Given the description of an element on the screen output the (x, y) to click on. 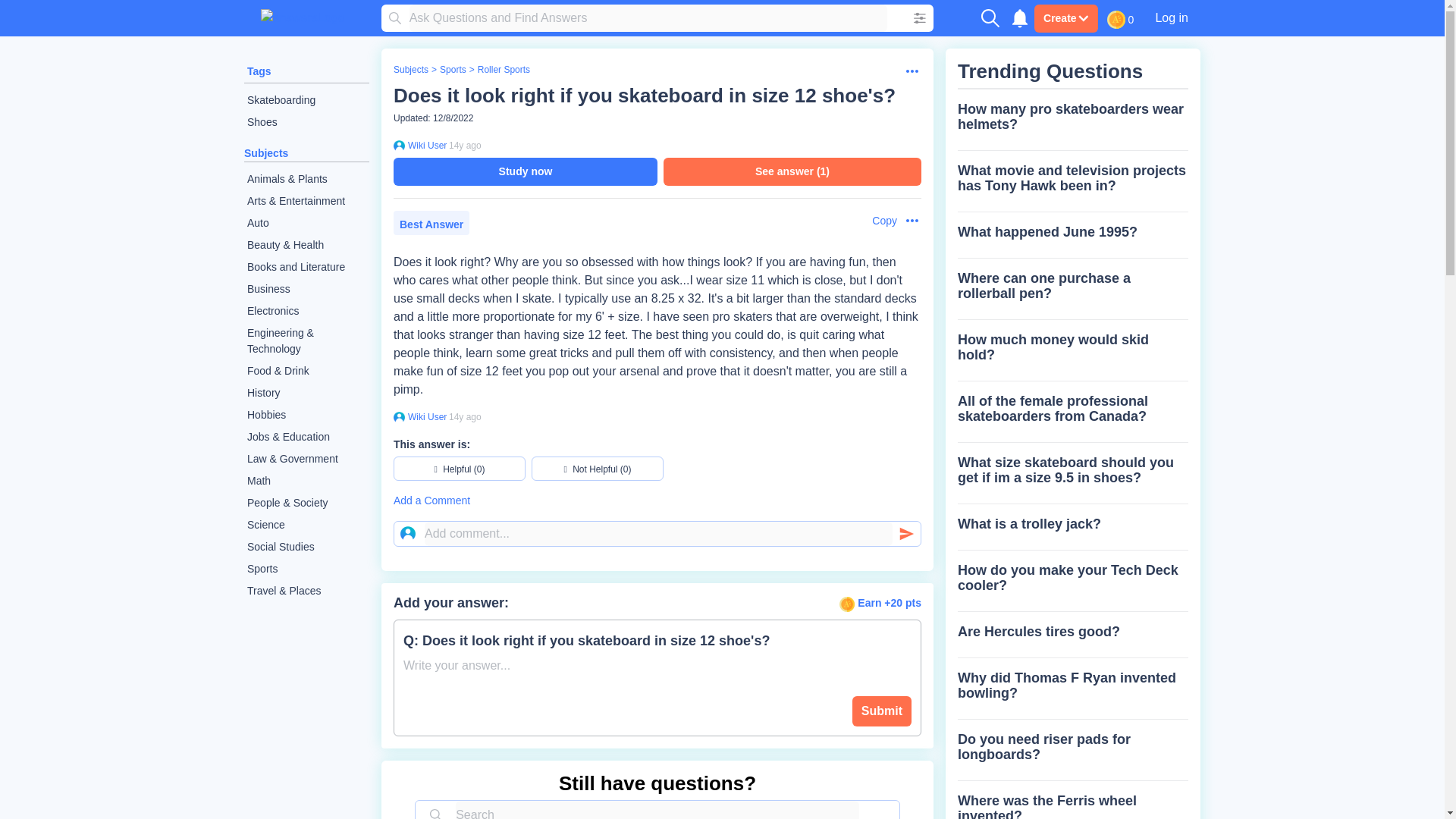
Science (306, 525)
Auto (306, 223)
Create (1065, 18)
Sports (452, 69)
2010-06-20 15:22:30 (464, 416)
Subjects (410, 69)
Does it look right if you skateboard in size 12 shoe's? (644, 95)
Shoes (306, 122)
Subjects (266, 152)
Wiki User (425, 145)
